Given the description of an element on the screen output the (x, y) to click on. 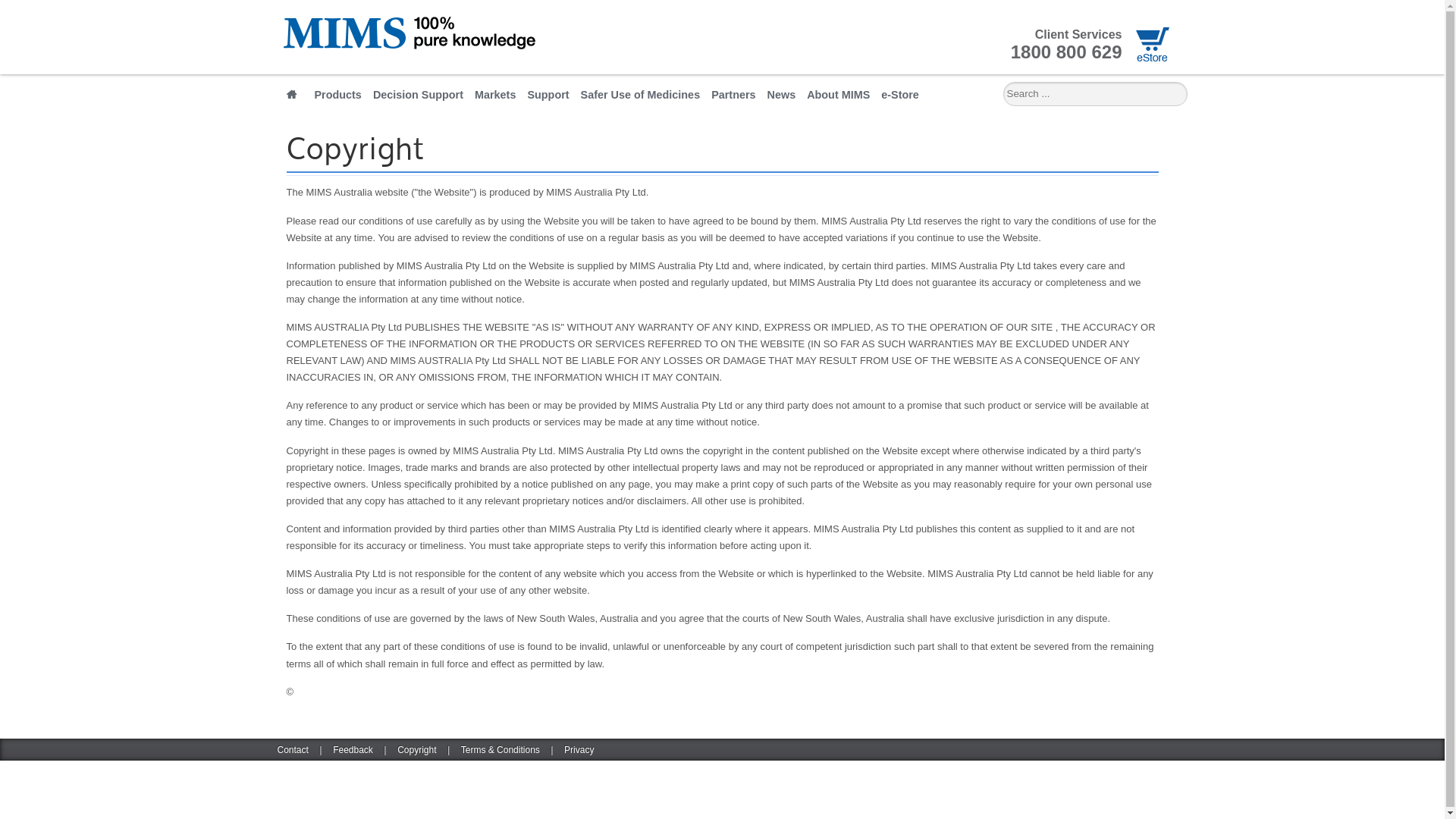
Copyright Element type: text (355, 150)
Decision Support Element type: text (418, 96)
About MIMS Element type: text (838, 96)
Feedback Element type: text (352, 749)
Terms & Conditions Element type: text (500, 749)
Markets Element type: text (494, 96)
News Element type: text (781, 96)
e-Store Element type: text (899, 96)
Safer Use of Medicines Element type: text (640, 96)
Copyright Element type: text (416, 749)
Contact Element type: text (292, 749)
Products Element type: text (337, 96)
Partners Element type: text (733, 96)
Support Element type: text (547, 96)
Privacy Element type: text (578, 749)
